Given the description of an element on the screen output the (x, y) to click on. 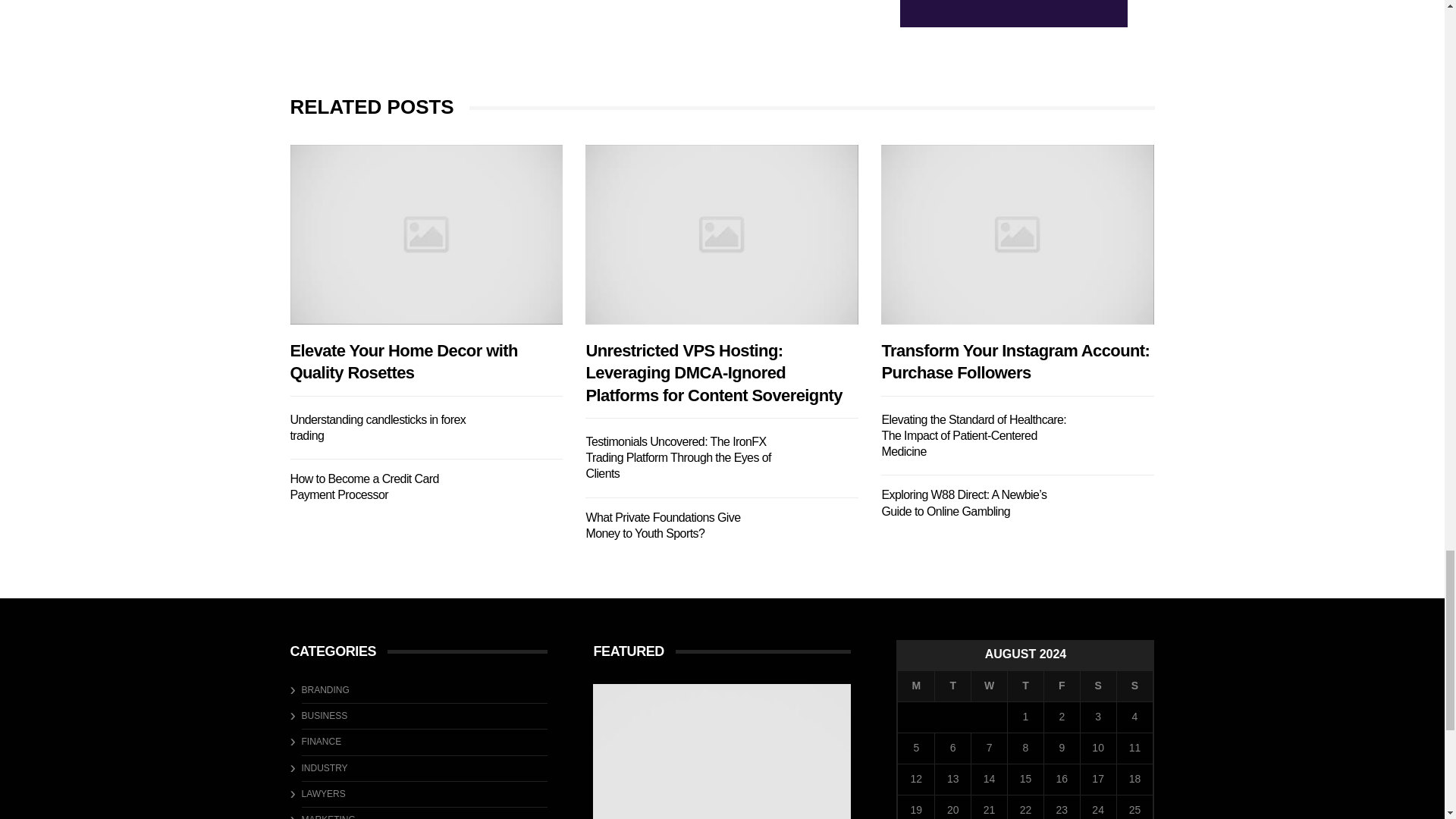
Elevate Your Home Decor with Quality Rosettes (425, 234)
Transform Your Instagram Account: Purchase Followers (1017, 234)
Elevate Your Home Decor with Quality Rosettes (721, 751)
